Given the description of an element on the screen output the (x, y) to click on. 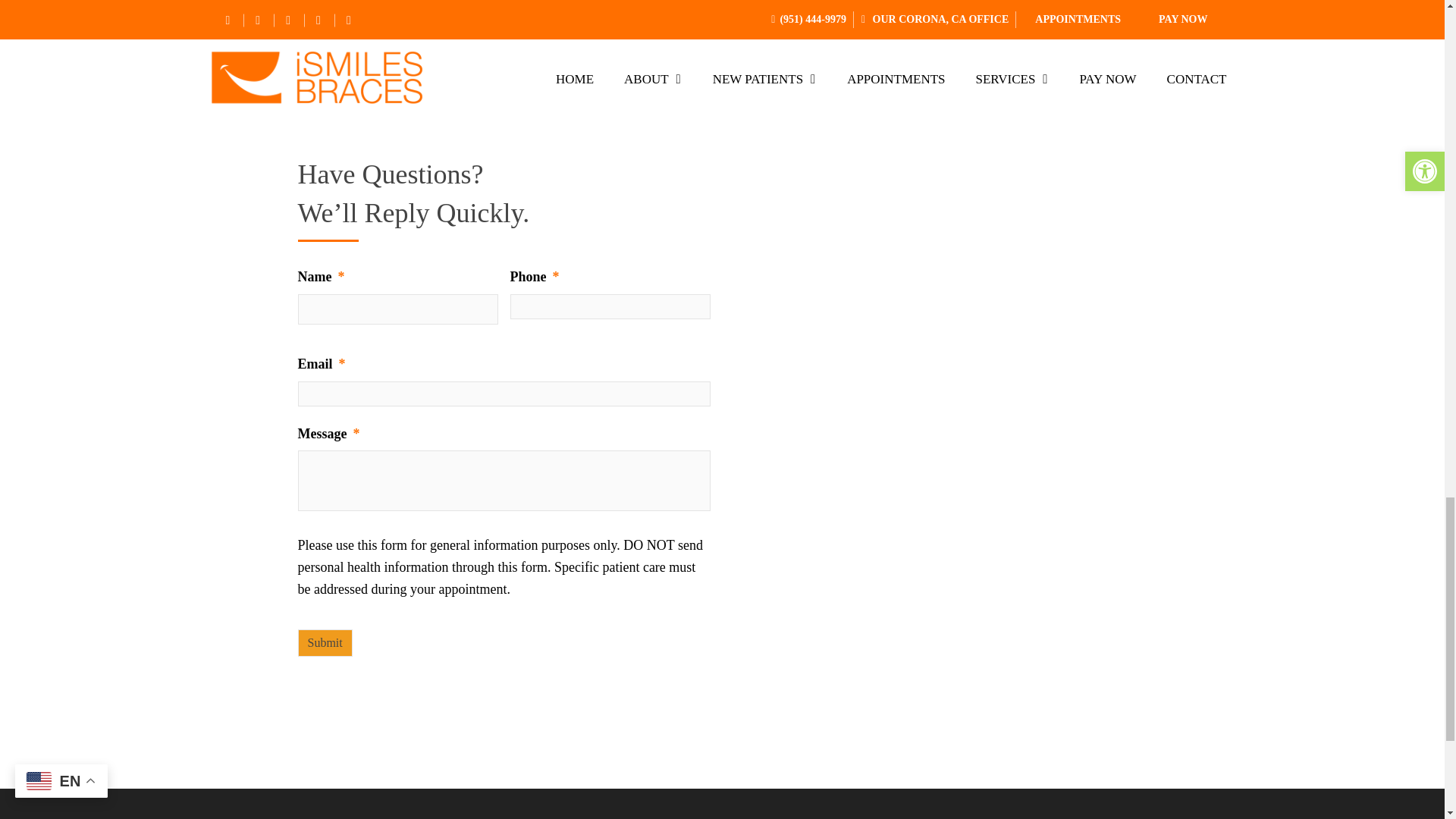
Submit (324, 642)
